Given the description of an element on the screen output the (x, y) to click on. 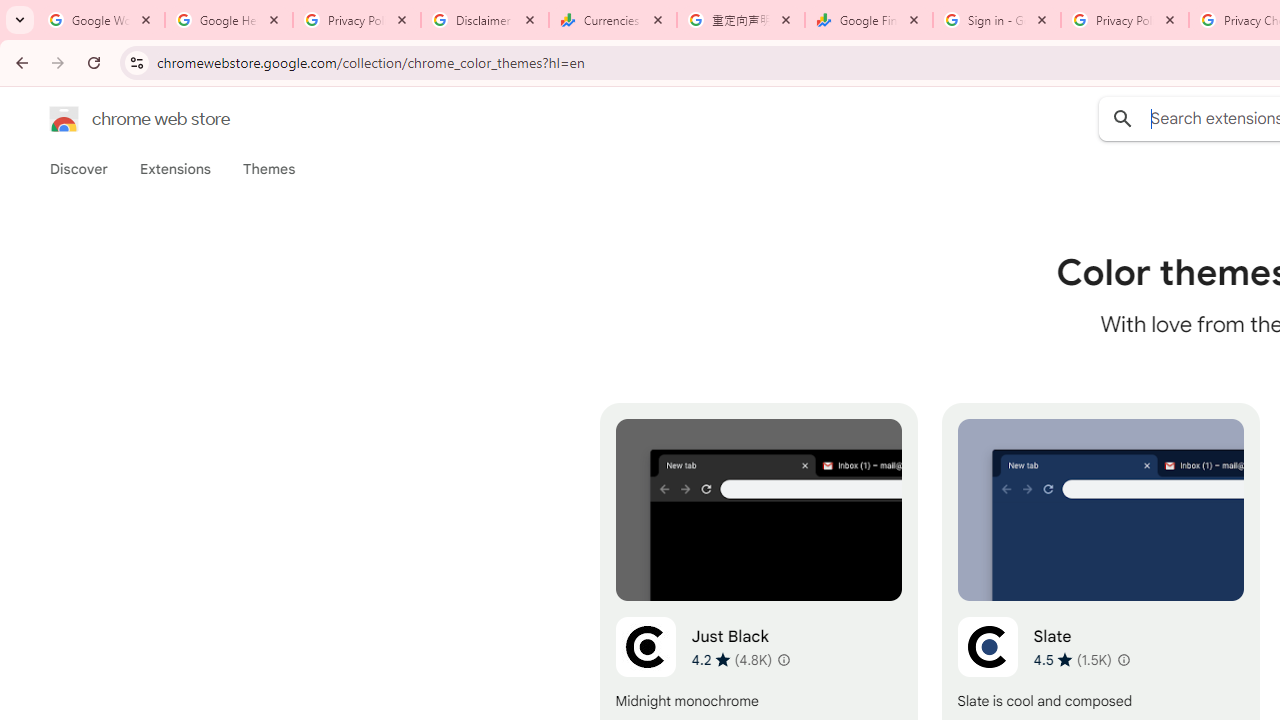
Chrome Web Store logo (63, 118)
Themes (269, 169)
Learn more about results and reviews "Just Black" (782, 659)
Sign in - Google Accounts (997, 20)
Average rating 4.5 out of 5 stars. 1.5K ratings. (1072, 659)
